Given the description of an element on the screen output the (x, y) to click on. 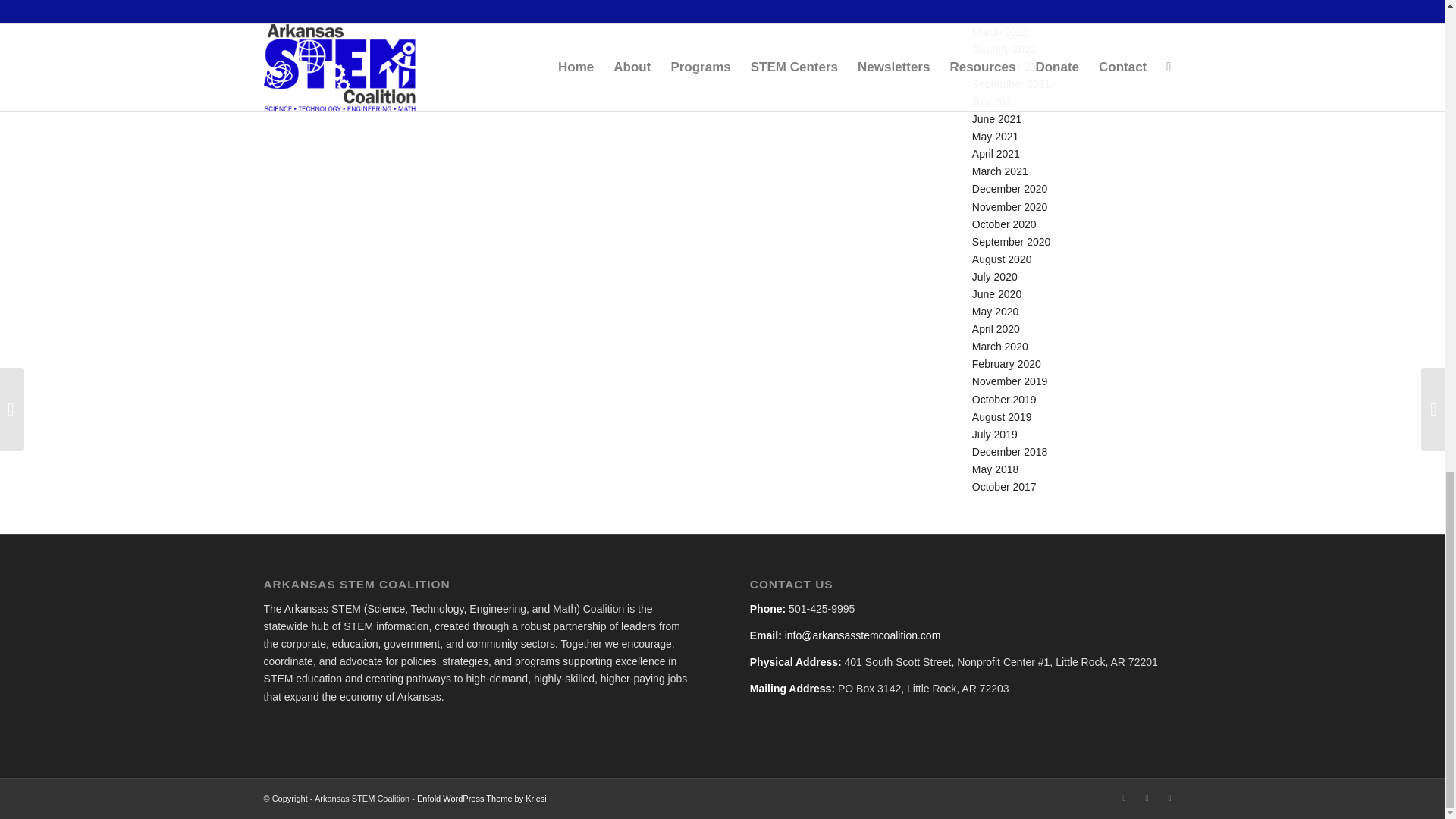
Twitter (1169, 797)
Facebook (1124, 797)
Instagram (1146, 797)
